Given the description of an element on the screen output the (x, y) to click on. 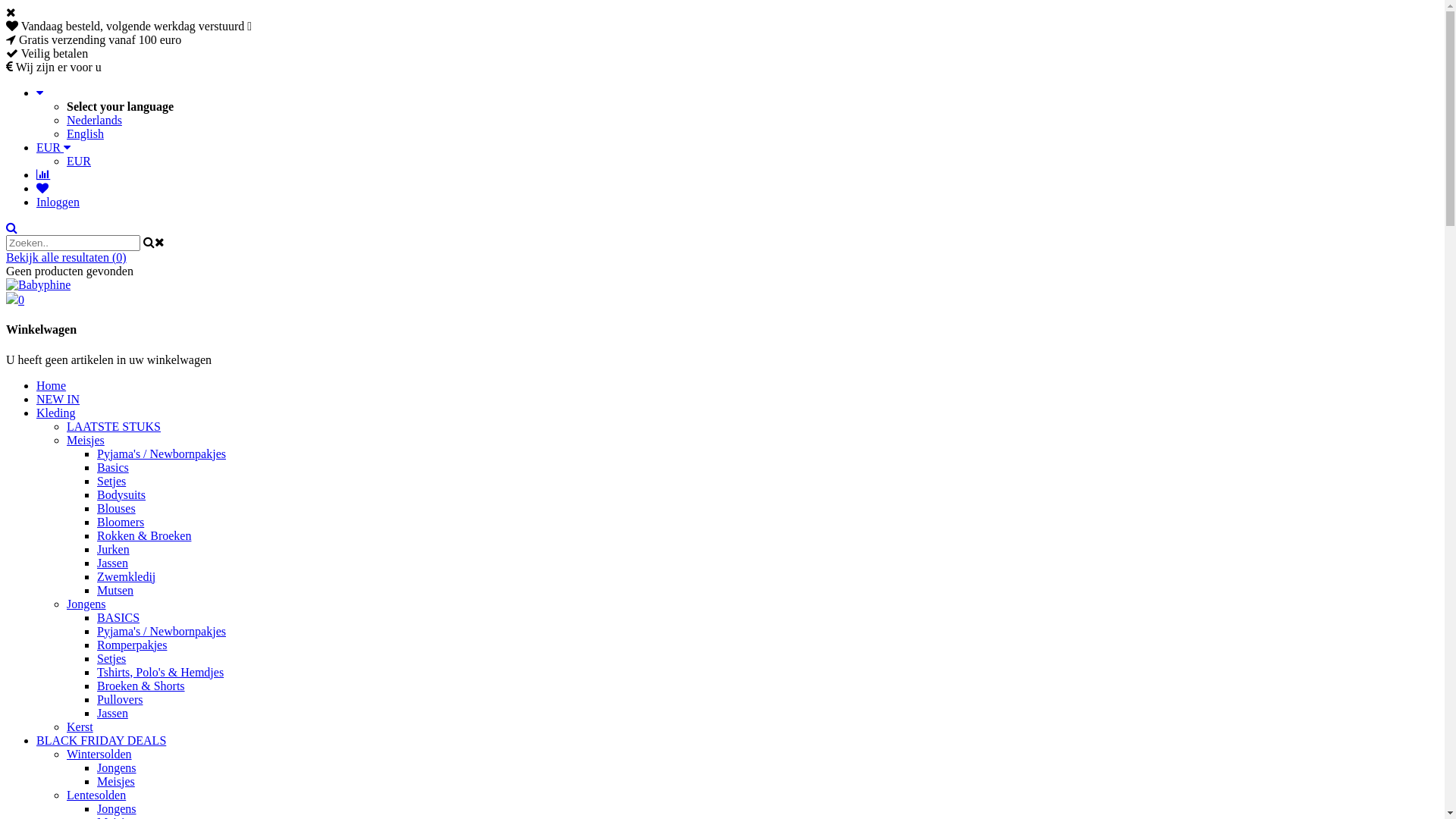
EUR Element type: text (53, 147)
Rokken & Broeken Element type: text (144, 535)
Pyjama's / Newbornpakjes Element type: text (161, 630)
LAATSTE STUKS Element type: text (113, 426)
Nederlands Element type: text (94, 119)
BLACK FRIDAY DEALS Element type: text (101, 740)
Inloggen Element type: text (57, 201)
Bekijk alle resultaten (0) Element type: text (66, 257)
Setjes Element type: text (111, 480)
0 Element type: text (722, 299)
Zwemkledij Element type: text (126, 576)
Bodysuits Element type: text (121, 494)
Mijn verlanglijst Element type: hover (42, 188)
EUR Element type: text (78, 160)
BASICS Element type: text (118, 617)
Wintersolden Element type: text (98, 753)
Blouses Element type: text (116, 508)
Jongens Element type: text (86, 603)
Setjes Element type: text (111, 658)
Home Element type: text (50, 385)
Pyjama's / Newbornpakjes Element type: text (161, 453)
Jongens Element type: text (116, 808)
Jongens Element type: text (116, 767)
Kerst Element type: text (79, 726)
Mutsen Element type: text (115, 589)
Broeken & Shorts Element type: text (141, 685)
Basics Element type: text (112, 467)
English Element type: text (84, 133)
NEW IN Element type: text (57, 398)
Jassen Element type: text (112, 712)
Jurken Element type: text (113, 548)
Pullovers Element type: text (119, 699)
Lentesolden Element type: text (95, 794)
Romperpakjes Element type: text (131, 644)
Tshirts, Polo's & Hemdjes Element type: text (160, 671)
Vergelijk Element type: hover (43, 174)
Meisjes Element type: text (115, 781)
Bloomers Element type: text (120, 521)
Kleding Element type: text (55, 412)
Meisjes Element type: text (85, 439)
Jassen Element type: text (112, 562)
